Given the description of an element on the screen output the (x, y) to click on. 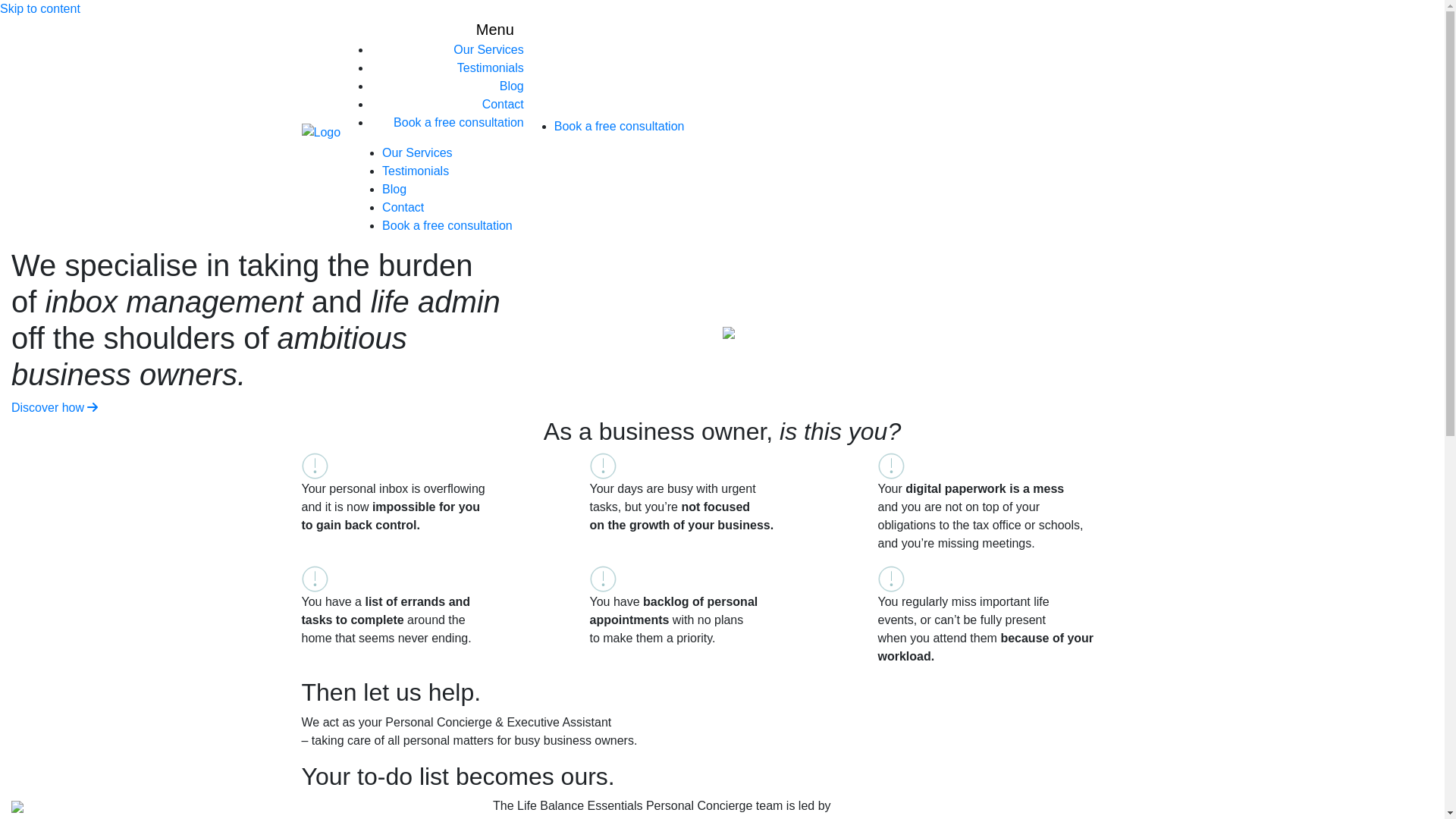
Blog Element type: text (511, 85)
Discover how Element type: text (54, 407)
Contact Element type: text (503, 103)
Testimonials Element type: text (415, 170)
Our Services Element type: text (416, 152)
Menu Element type: text (495, 29)
Book a free consultation Element type: text (619, 125)
Blog Element type: text (394, 188)
Skip to content Element type: text (40, 8)
Contact Element type: text (402, 206)
Testimonials Element type: text (490, 67)
Our Services Element type: text (488, 49)
Book a free consultation Element type: text (447, 225)
Book a free consultation Element type: text (458, 122)
